Given the description of an element on the screen output the (x, y) to click on. 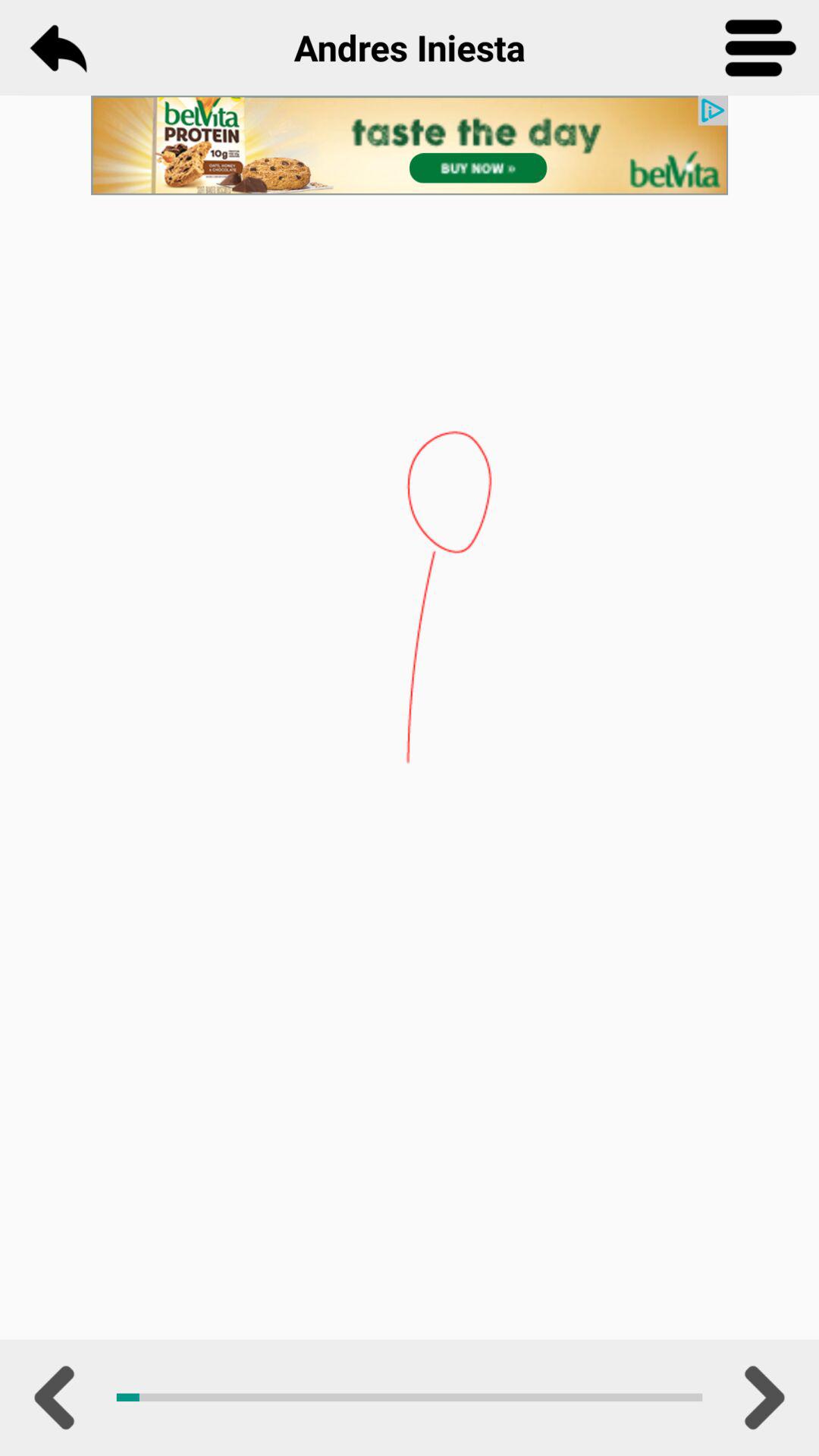
go forward in the animation (760, 1397)
